Given the description of an element on the screen output the (x, y) to click on. 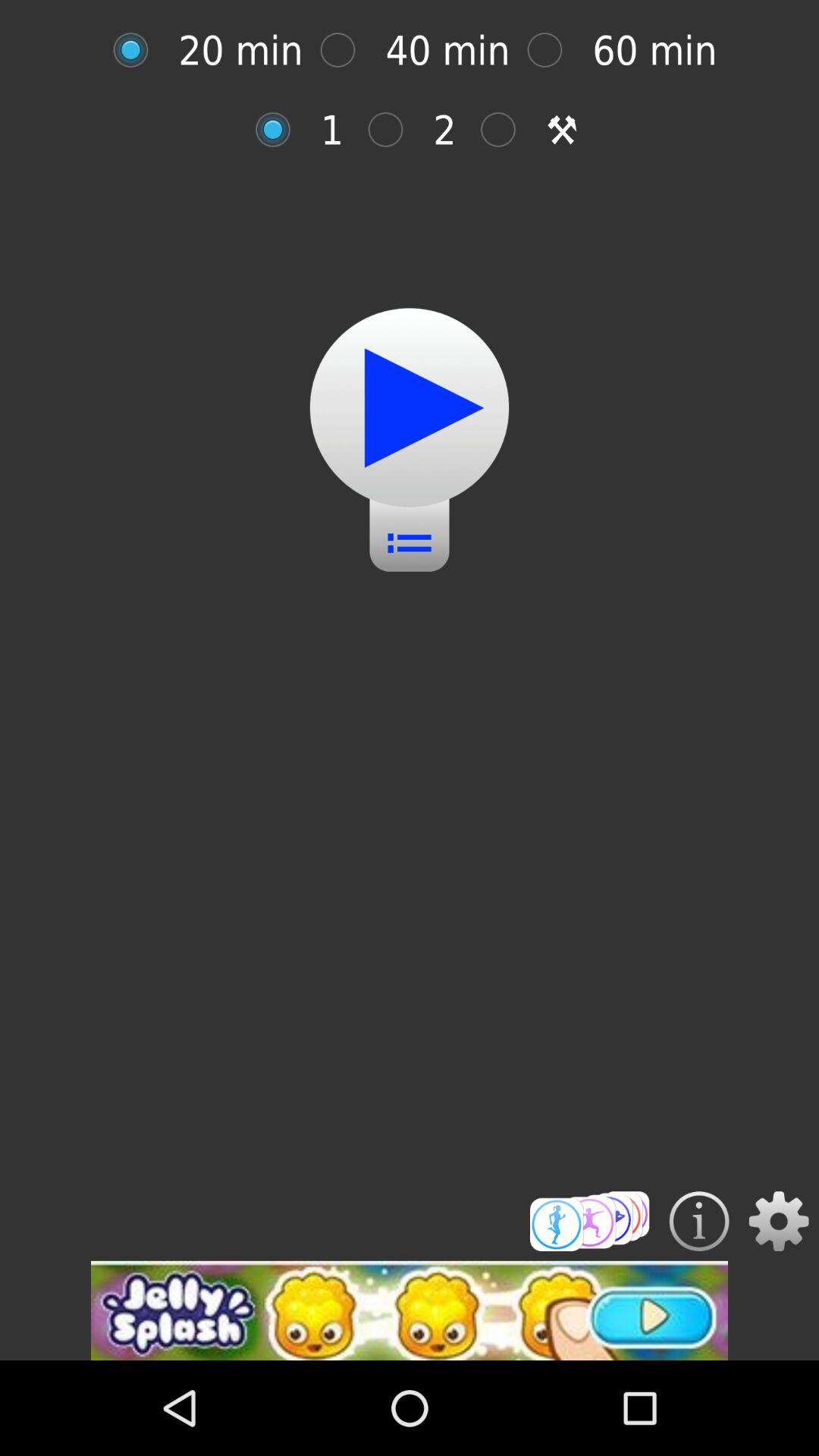
select option (552, 49)
